Given the description of an element on the screen output the (x, y) to click on. 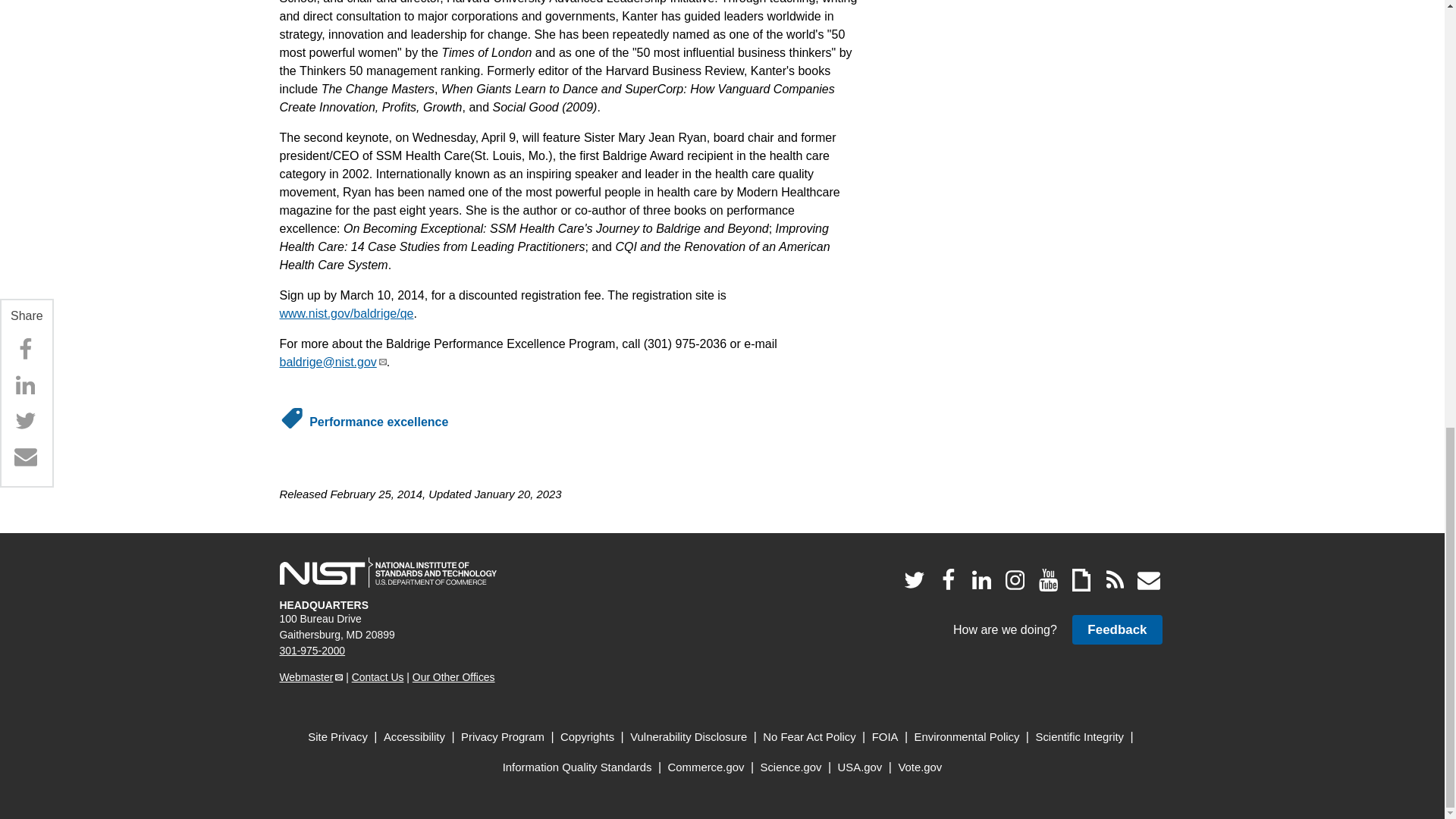
Provide feedback (1116, 629)
Webmaster (310, 676)
Our Other Offices (453, 676)
301-975-2000 (312, 650)
Performance excellence (378, 421)
National Institute of Standards and Technology (387, 572)
Contact Us (378, 676)
